Given the description of an element on the screen output the (x, y) to click on. 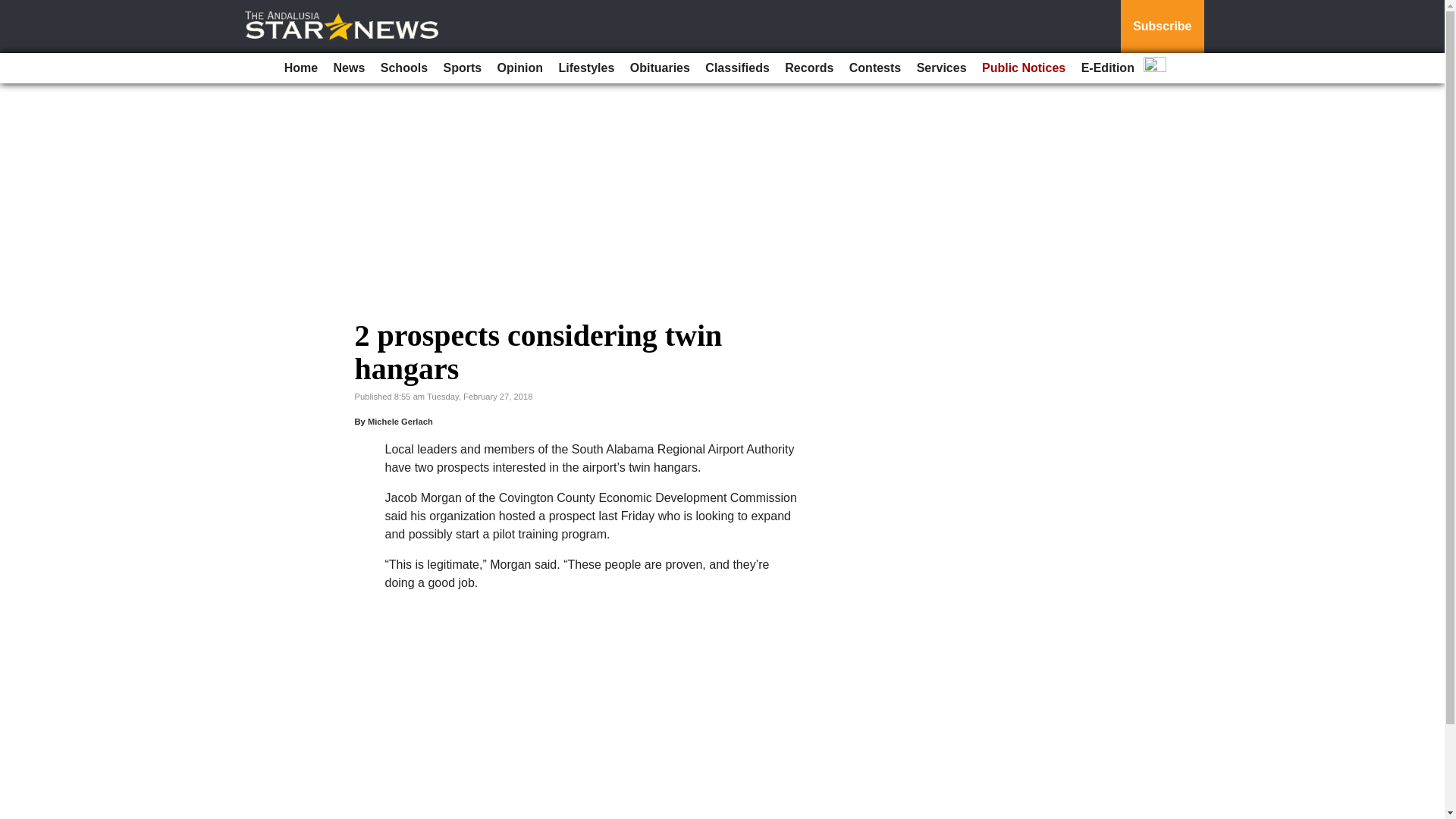
Contests (875, 68)
Home (300, 68)
Sports (461, 68)
Go (13, 9)
Opinion (520, 68)
Records (809, 68)
Michele Gerlach (400, 420)
Schools (403, 68)
E-Edition (1107, 68)
Subscribe (1162, 26)
